Given the description of an element on the screen output the (x, y) to click on. 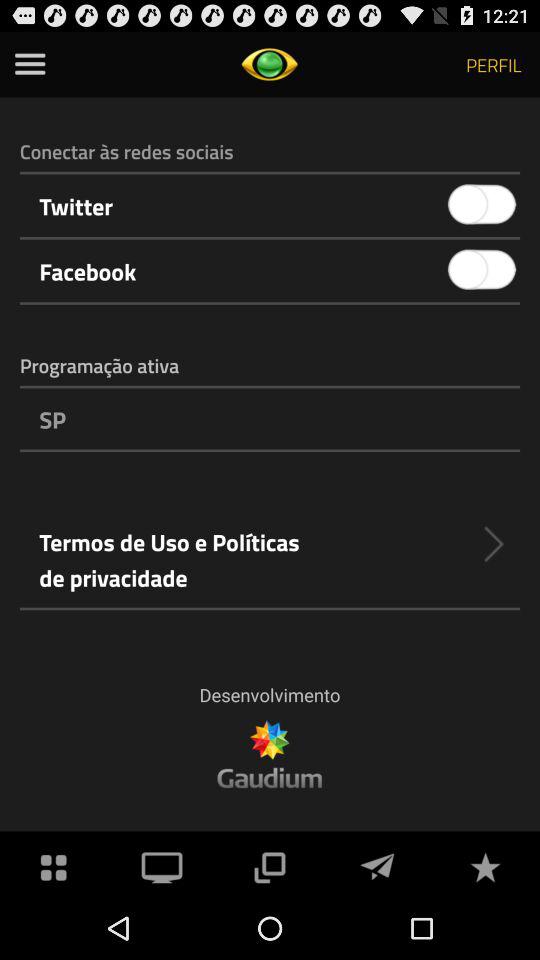
select icon to the right of the twitter app (482, 204)
